Given the description of an element on the screen output the (x, y) to click on. 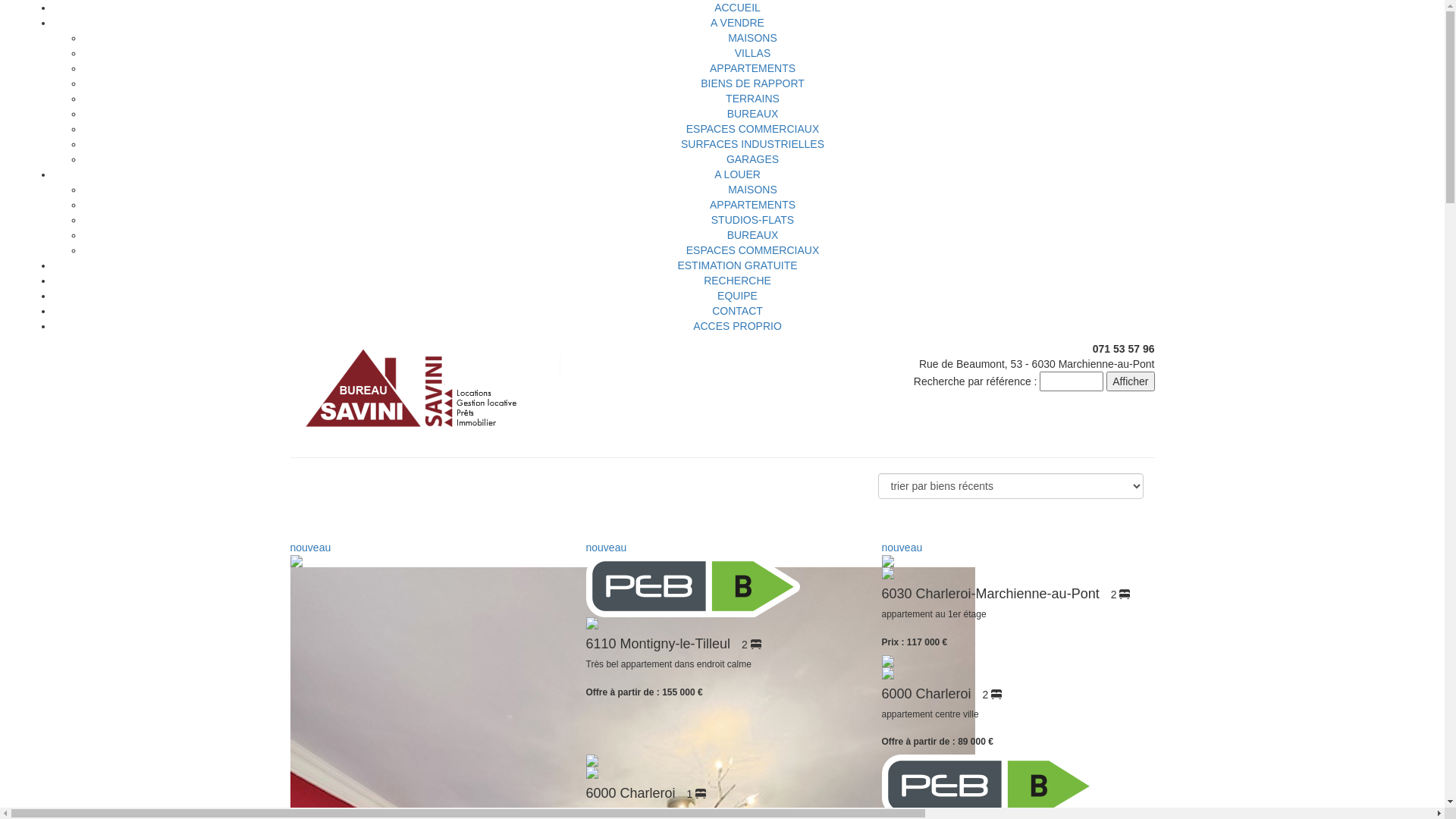
Afficher Element type: text (1130, 381)
CONTACT Element type: text (737, 310)
BUREAUX Element type: text (752, 113)
RECHERCHE Element type: text (737, 280)
APPARTEMENTS Element type: text (752, 204)
STUDIOS-FLATS Element type: text (752, 219)
BUREAUX Element type: text (752, 235)
ESPACES COMMERCIAUX Element type: text (752, 128)
ESPACES COMMERCIAUX Element type: text (752, 250)
TERRAINS Element type: text (752, 98)
MAISONS Element type: text (752, 37)
APPARTEMENTS Element type: text (752, 68)
ESTIMATION GRATUITE Element type: text (737, 265)
BIENS DE RAPPORT Element type: text (752, 83)
SURFACES INDUSTRIELLES Element type: text (752, 144)
A LOUER Element type: text (737, 174)
ACCUEIL Element type: text (737, 7)
nouveau Element type: text (721, 584)
GARAGES Element type: text (752, 159)
nouveau Element type: text (1017, 559)
A VENDRE Element type: text (737, 22)
VILLAS Element type: text (752, 53)
MAISONS Element type: text (752, 189)
EQUIPE Element type: text (737, 295)
ACCES PROPRIO Element type: text (737, 326)
